Given the description of an element on the screen output the (x, y) to click on. 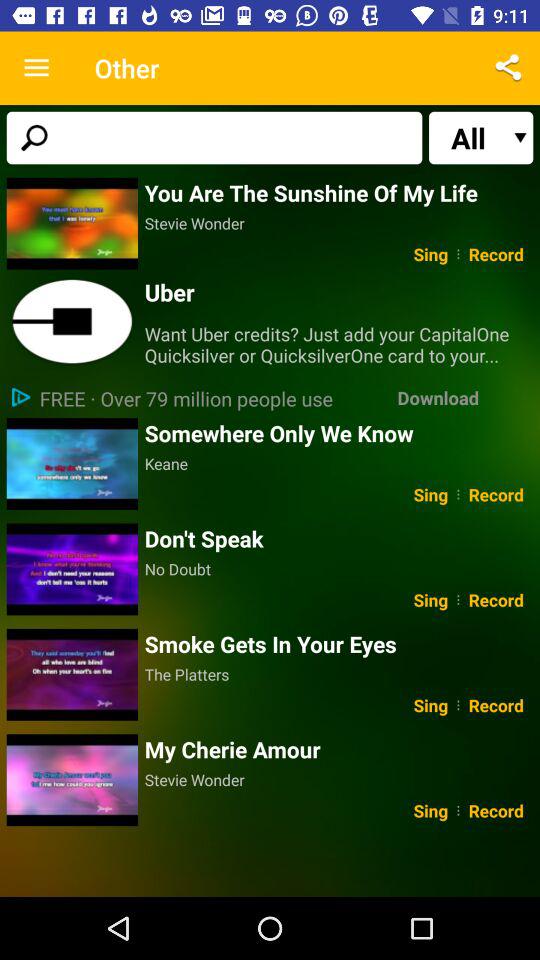
select icon to the right of the other icon (508, 67)
